Given the description of an element on the screen output the (x, y) to click on. 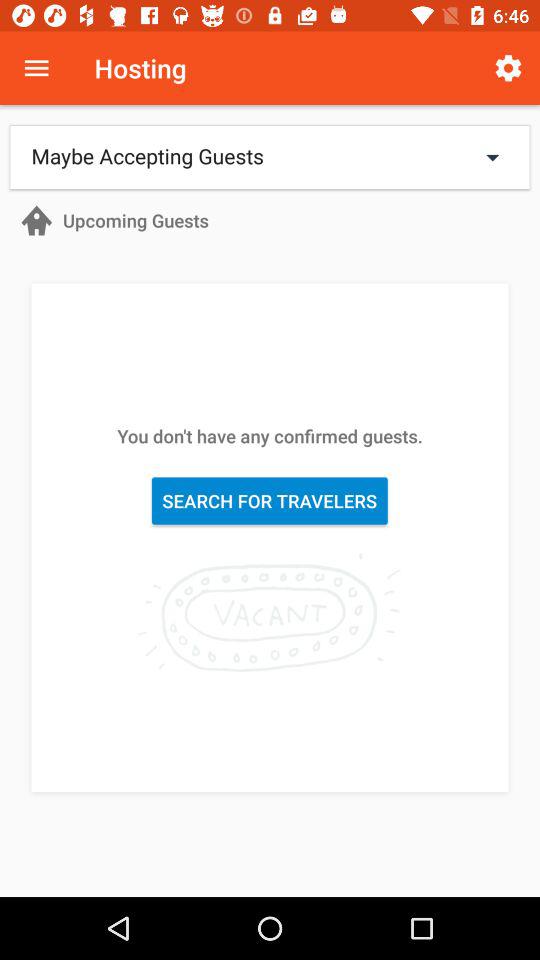
tap the icon below the you don t item (269, 500)
